Given the description of an element on the screen output the (x, y) to click on. 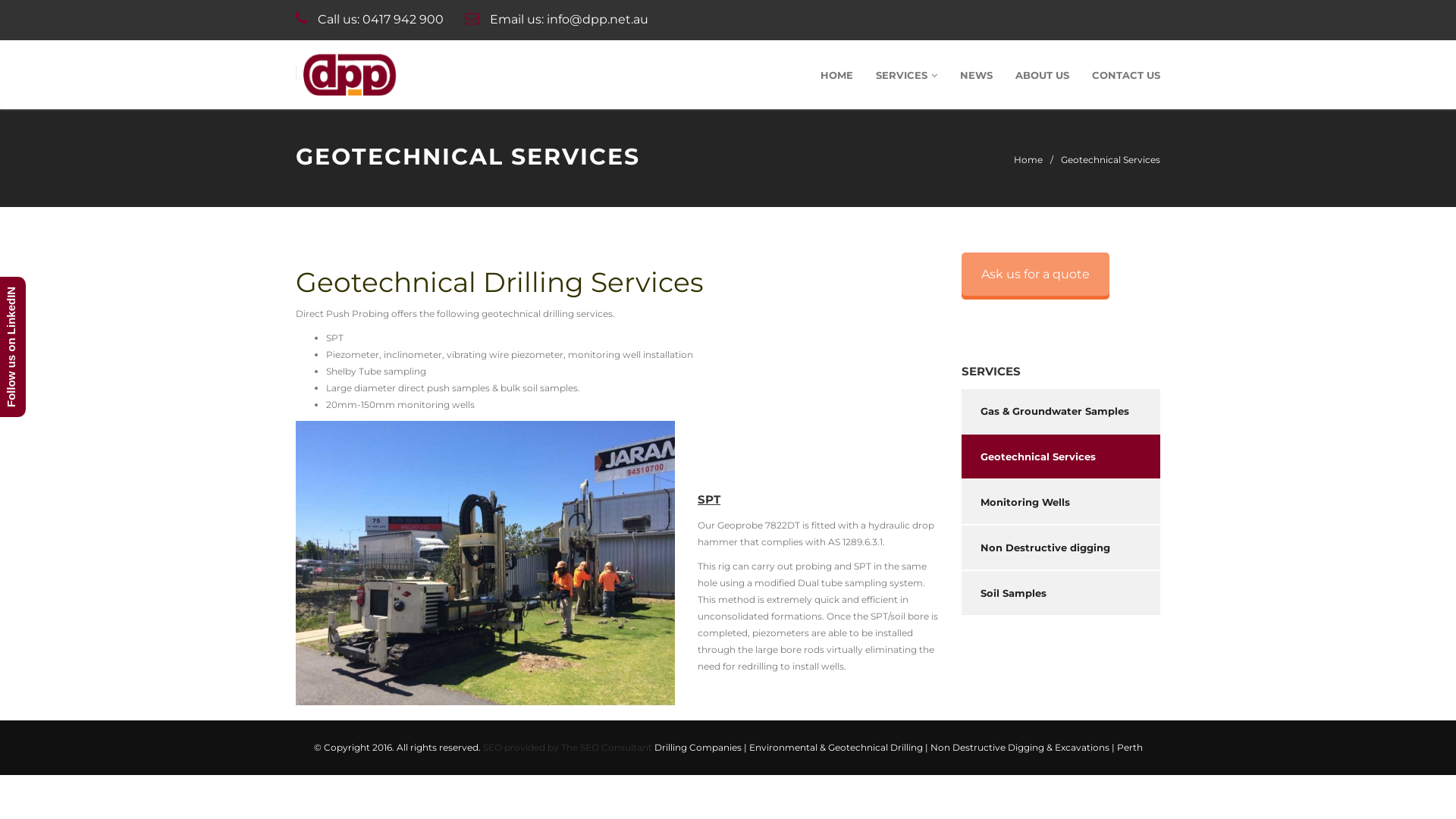
Ask us for a quote Element type: text (1035, 273)
Geotechnical Services Element type: text (1061, 456)
Home Element type: text (1027, 159)
SERVICES Element type: text (906, 74)
Non Destructive digging Element type: text (1061, 547)
Monitoring Wells Element type: text (1061, 502)
SEO provided by The SEO Consultant Element type: text (566, 747)
Geotechnical drilling services Element type: hover (484, 562)
ABOUT US Element type: text (1042, 74)
HOME Element type: text (836, 74)
Direct Push Probing Element type: hover (350, 74)
Soil Samples Element type: text (1061, 593)
NEWS Element type: text (976, 74)
Gas & Groundwater Samples Element type: text (1061, 411)
CONTACT US Element type: text (1125, 74)
